Given the description of an element on the screen output the (x, y) to click on. 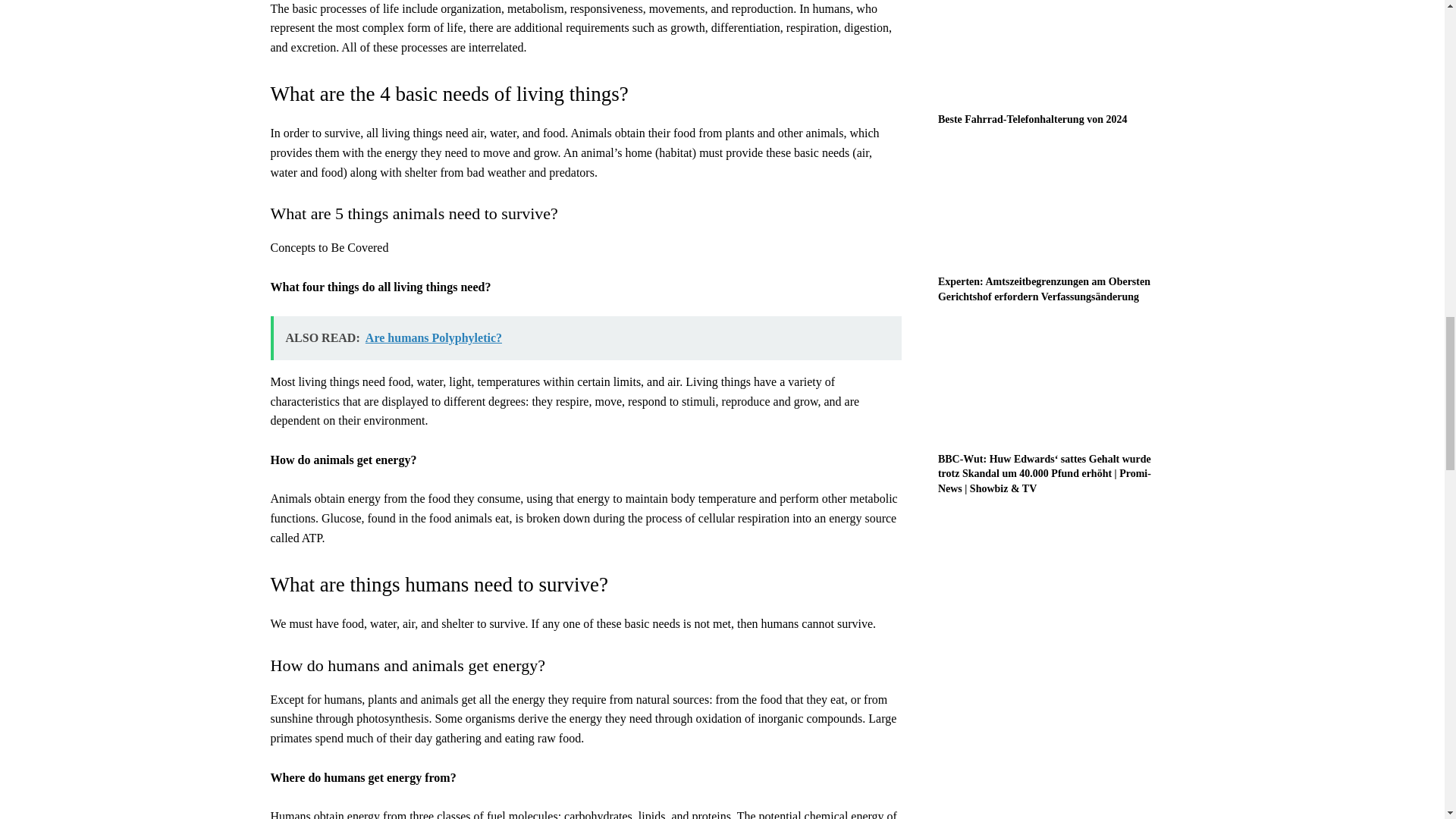
Beste Fahrrad-Telefonhalterung von 2024 (1031, 119)
Beste Fahrrad-Telefonhalterung von 2024 (1055, 51)
ALSO READ:  Are humans Polyphyletic? (585, 338)
